Given the description of an element on the screen output the (x, y) to click on. 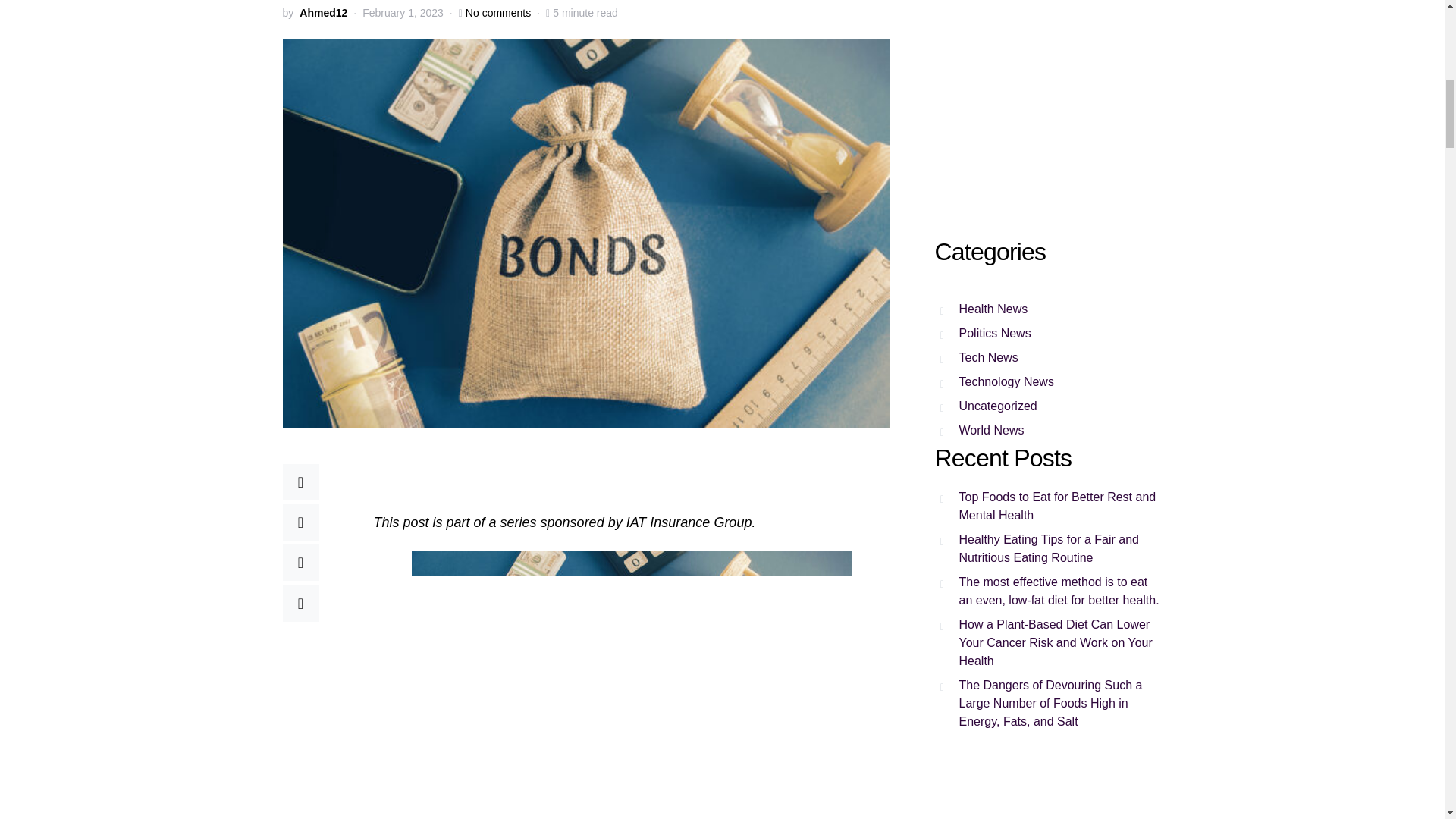
View all posts by Ahmed12 (323, 12)
Ahmed12 (323, 12)
No comments (498, 12)
